Given the description of an element on the screen output the (x, y) to click on. 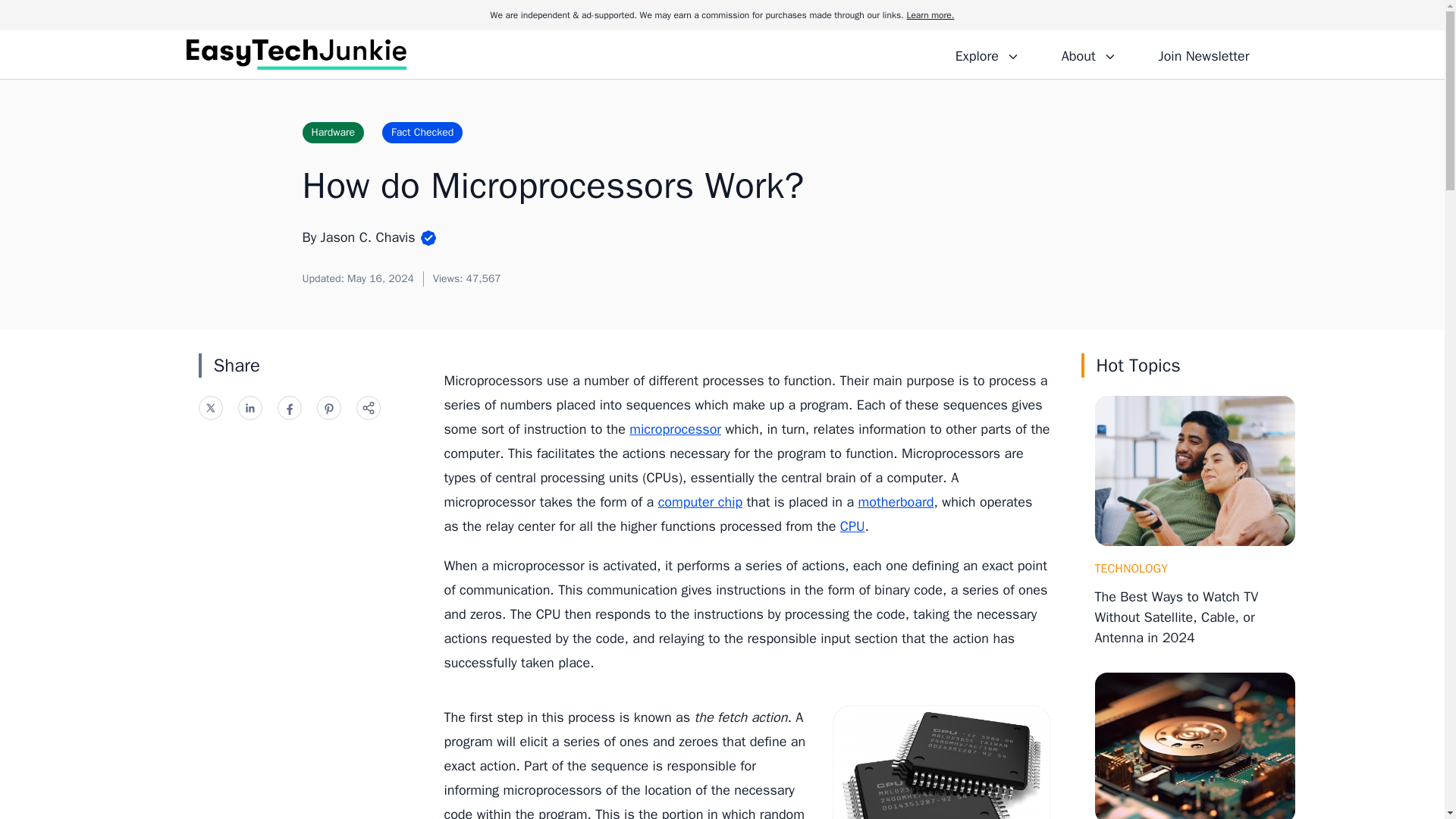
Explore (986, 54)
computer chip (700, 501)
About (1088, 54)
motherboard (896, 501)
Hardware (332, 132)
microprocessor (674, 428)
Join Newsletter (1202, 54)
Fact Checked (422, 132)
Learn more. (929, 15)
